Given the description of an element on the screen output the (x, y) to click on. 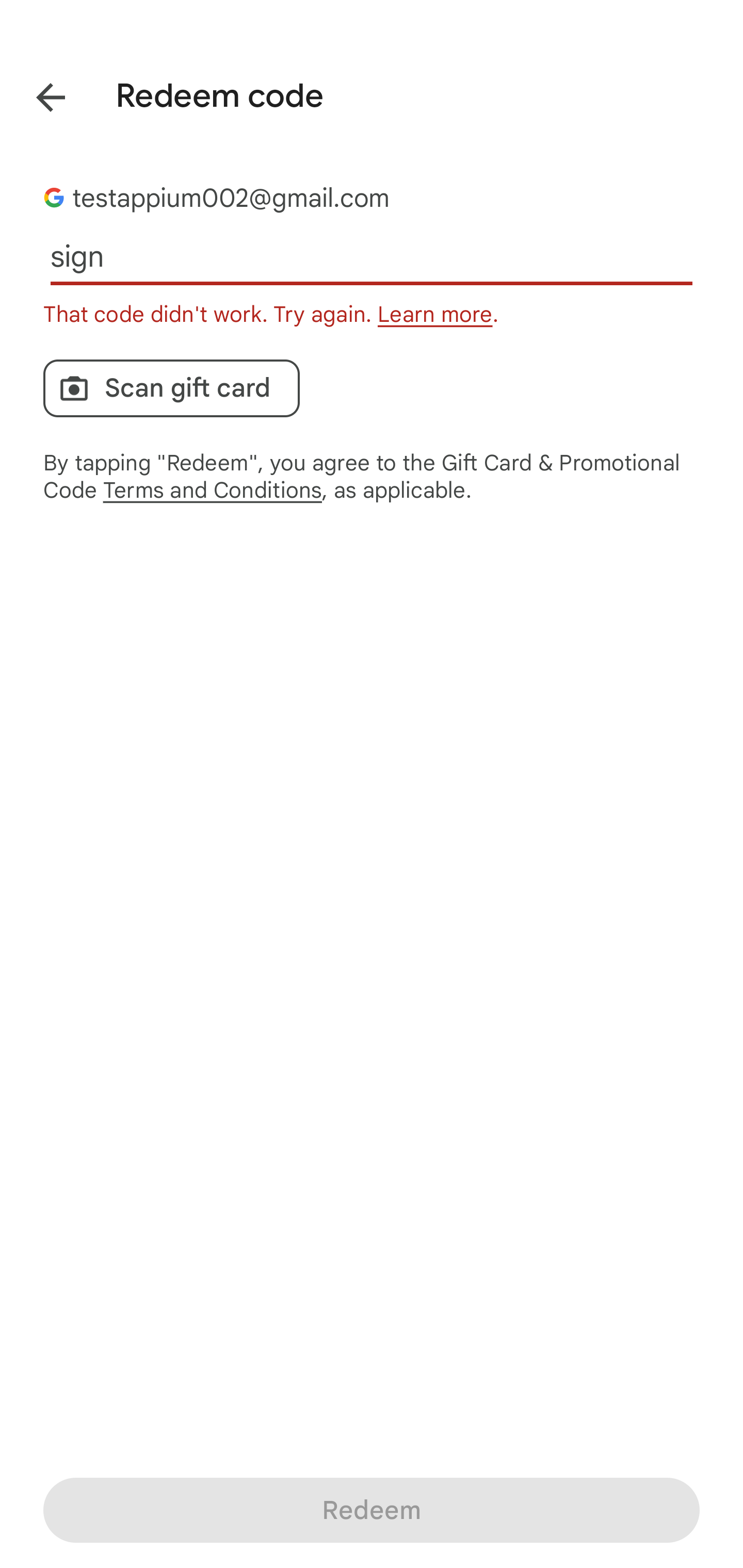
Back (36, 94)
sign (371, 256)
Scan gift card (171, 388)
